Given the description of an element on the screen output the (x, y) to click on. 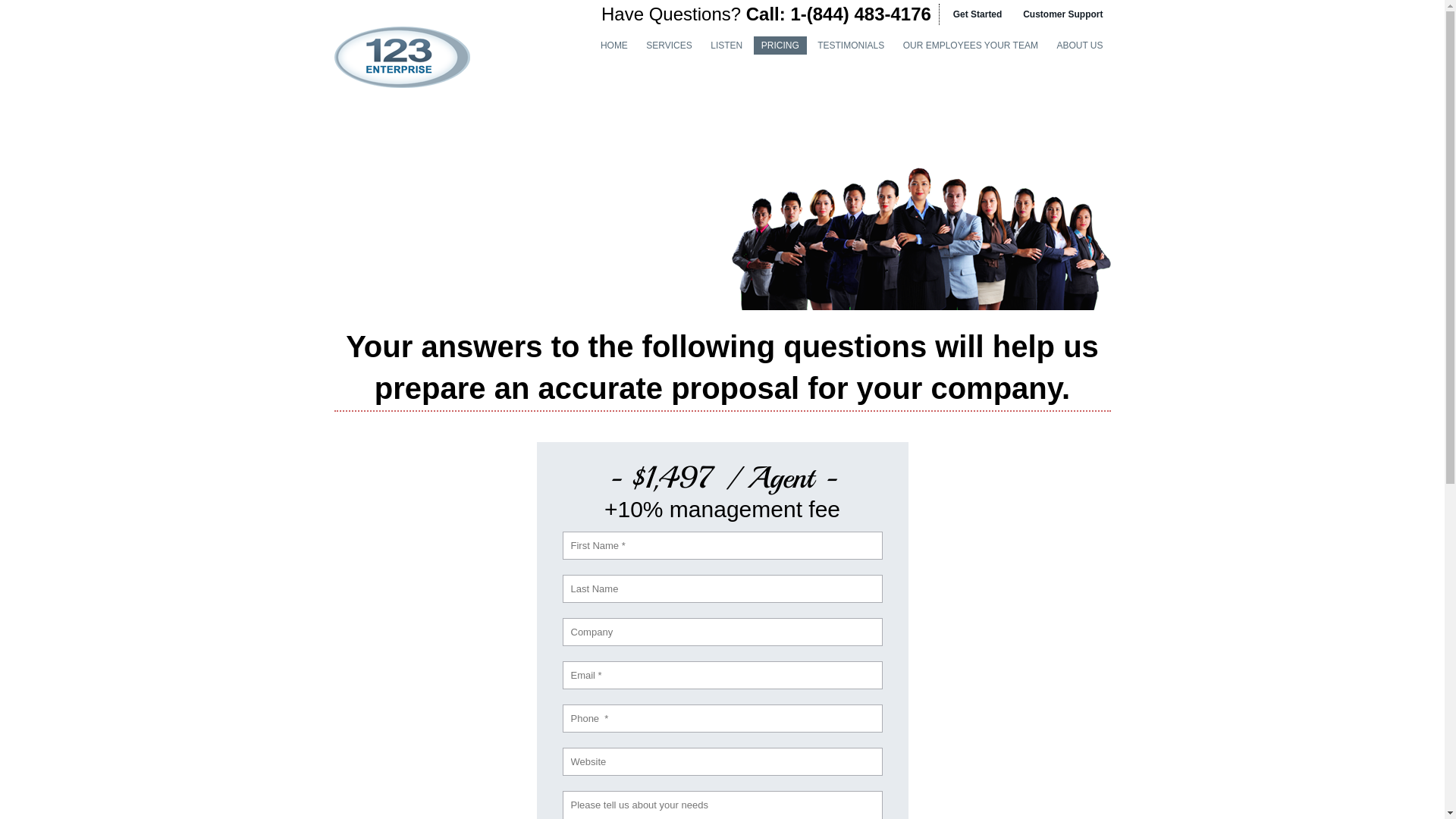
Customer Support Element type: text (1061, 14)
SERVICES Element type: text (668, 45)
TESTIMONIALS Element type: text (850, 45)
OUR EMPLOYEES YOUR TEAM Element type: text (970, 45)
Get Started Element type: text (975, 14)
ABOUT US Element type: text (1079, 45)
LISTEN Element type: text (725, 45)
HOME Element type: text (614, 45)
PRICING Element type: text (779, 45)
